Given the description of an element on the screen output the (x, y) to click on. 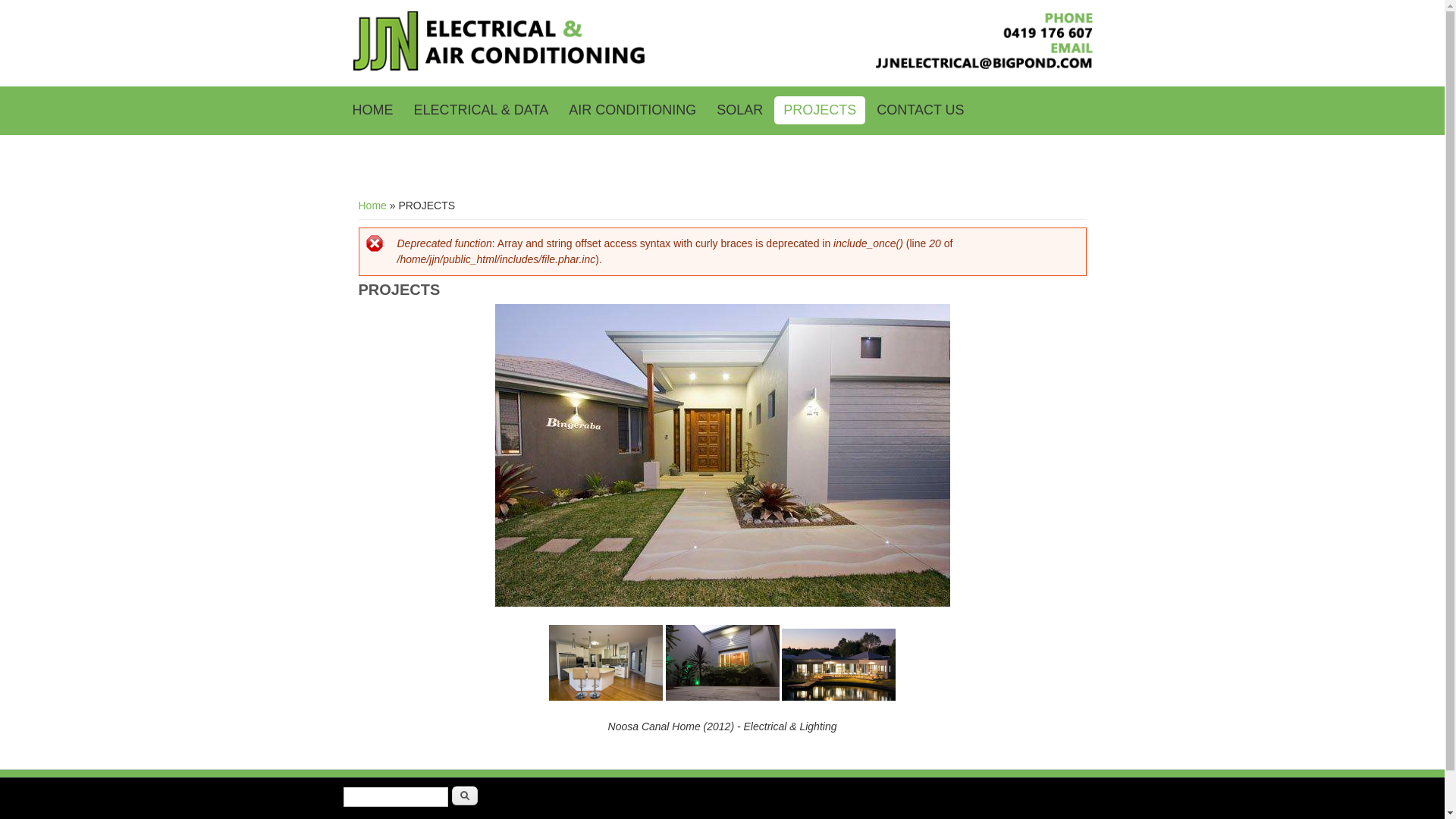
Home Element type: hover (721, 66)
ELECTRICAL & DATA Element type: text (481, 110)
CONTACT US Element type: text (919, 110)
Home Element type: text (371, 205)
HOME Element type: text (371, 110)
Search Element type: text (464, 795)
SOLAR Element type: text (739, 110)
AIR CONDITIONING Element type: text (632, 110)
PROJECTS Element type: text (819, 110)
Enter the terms you wish to search for. Element type: hover (394, 796)
